Given the description of an element on the screen output the (x, y) to click on. 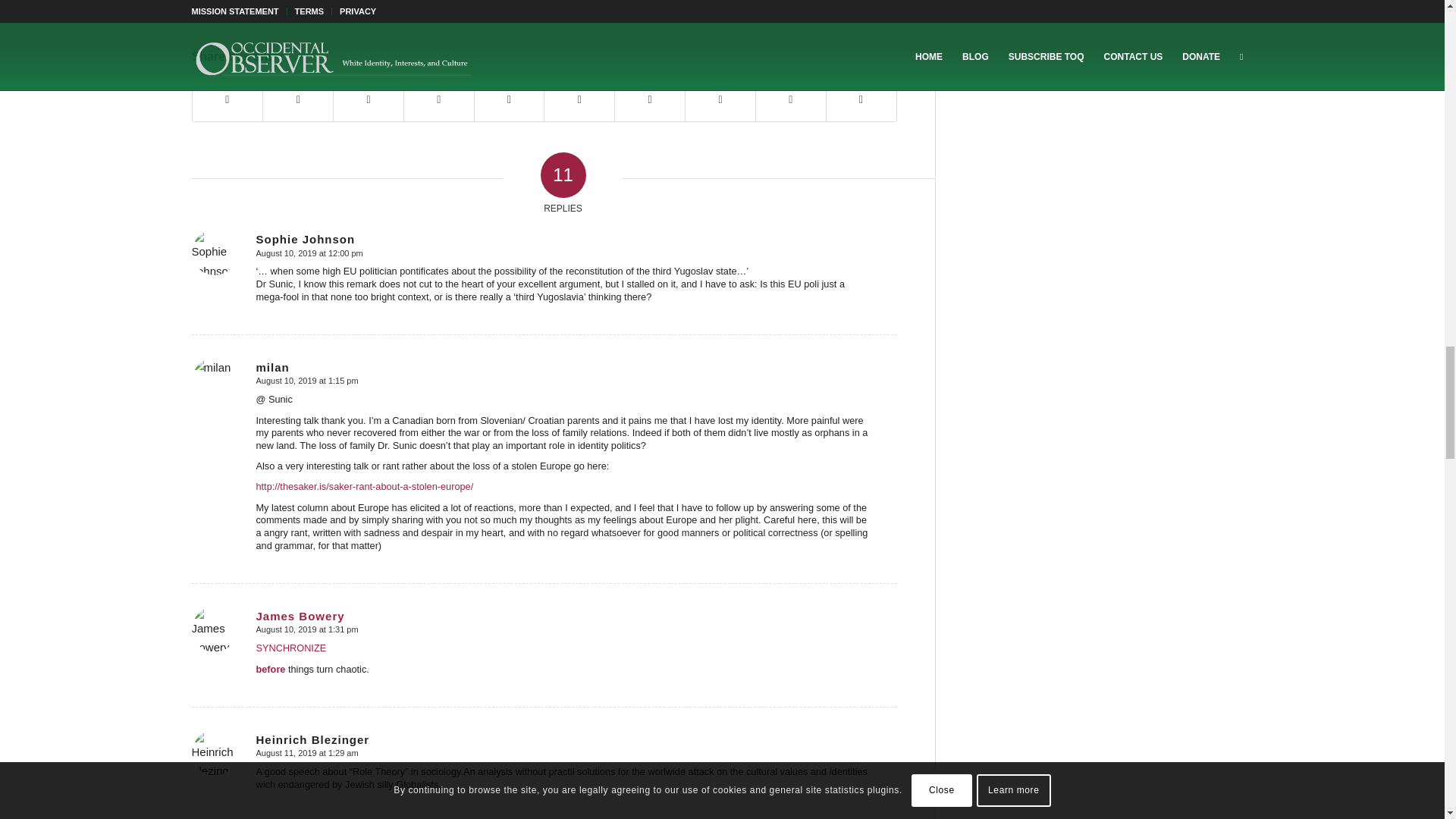
PrintFriendly (340, 6)
Share (359, 6)
Facebook (268, 6)
August 10, 2019 at 12:00 pm (309, 252)
Email (322, 6)
PrintFriendly (340, 6)
Twitter (286, 6)
Facebook (268, 6)
Twitter (286, 6)
WhatsApp (304, 6)
WhatsApp (304, 6)
Email (322, 6)
